Given the description of an element on the screen output the (x, y) to click on. 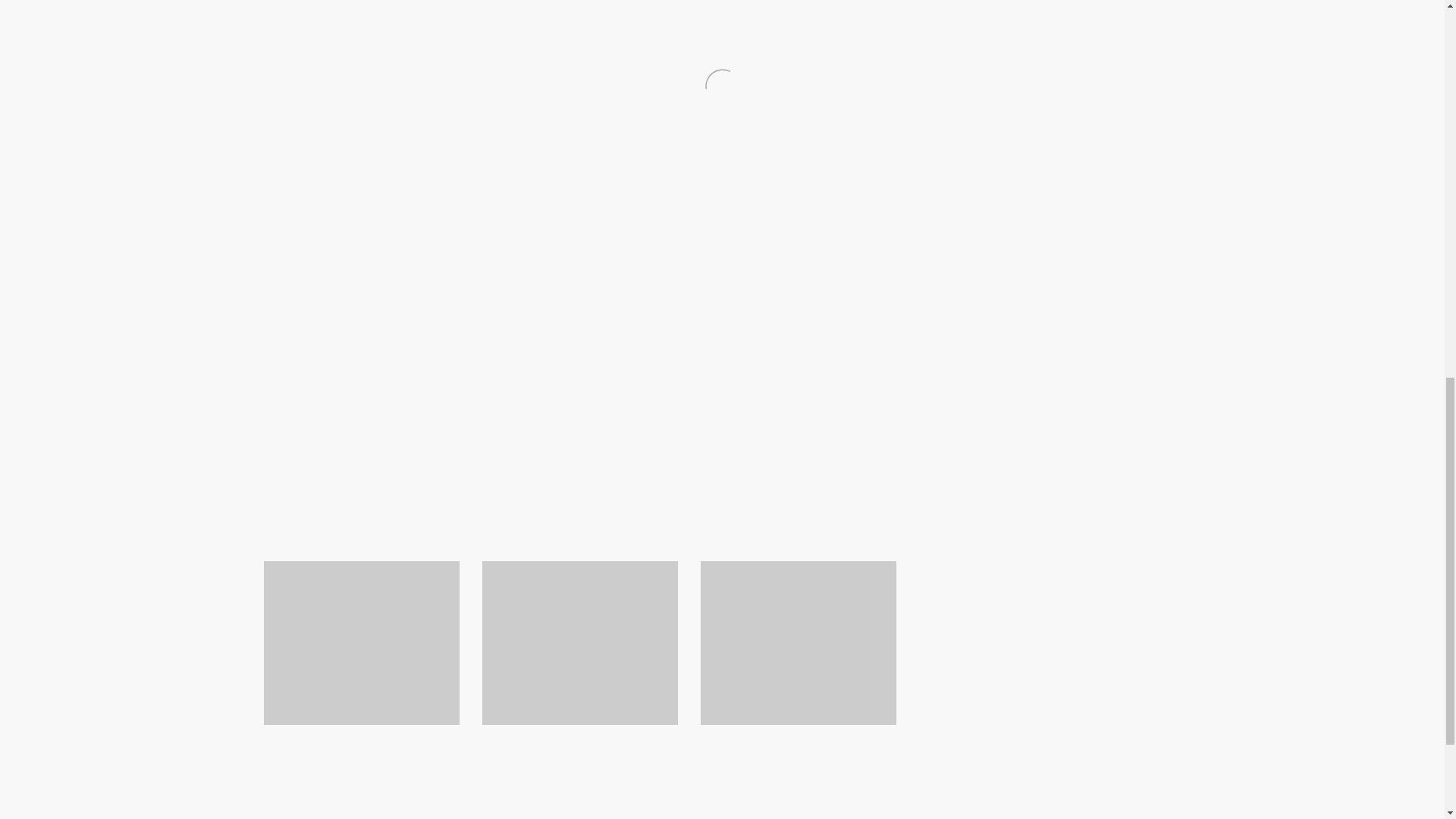
Enjoy the Atmosphere of a Casino Online (391, 433)
How to Play the Lottery Online (797, 433)
Cara Mencari Link Sbobet yang Tidak Diblokir di Indonesia (574, 793)
